Given the description of an element on the screen output the (x, y) to click on. 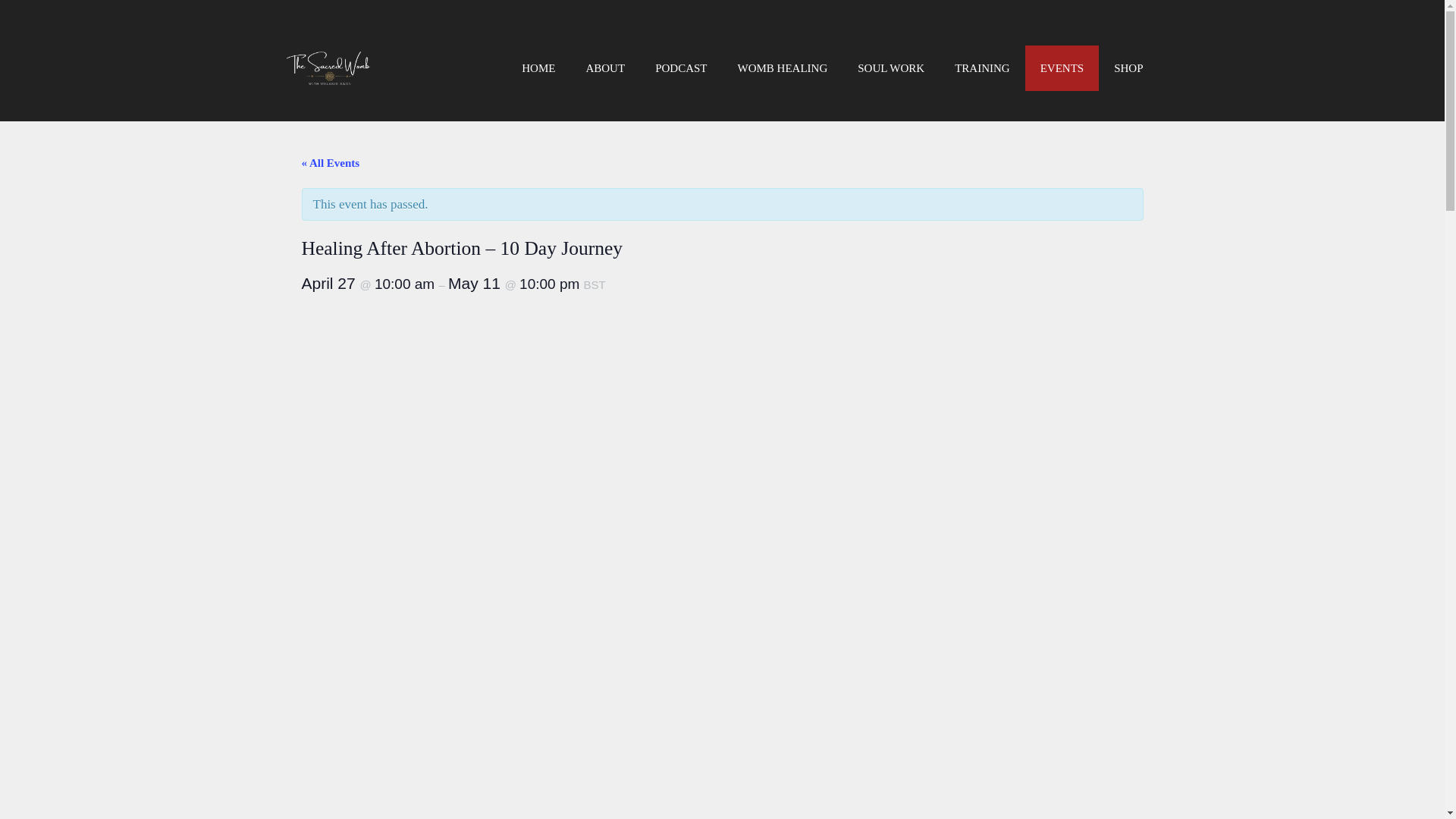
PODCAST (681, 67)
SHOP (1128, 67)
ABOUT (605, 67)
WOMB HEALING (782, 67)
SOUL WORK (891, 67)
EVENTS (1062, 67)
HOME (538, 67)
TRAINING (982, 67)
